Given the description of an element on the screen output the (x, y) to click on. 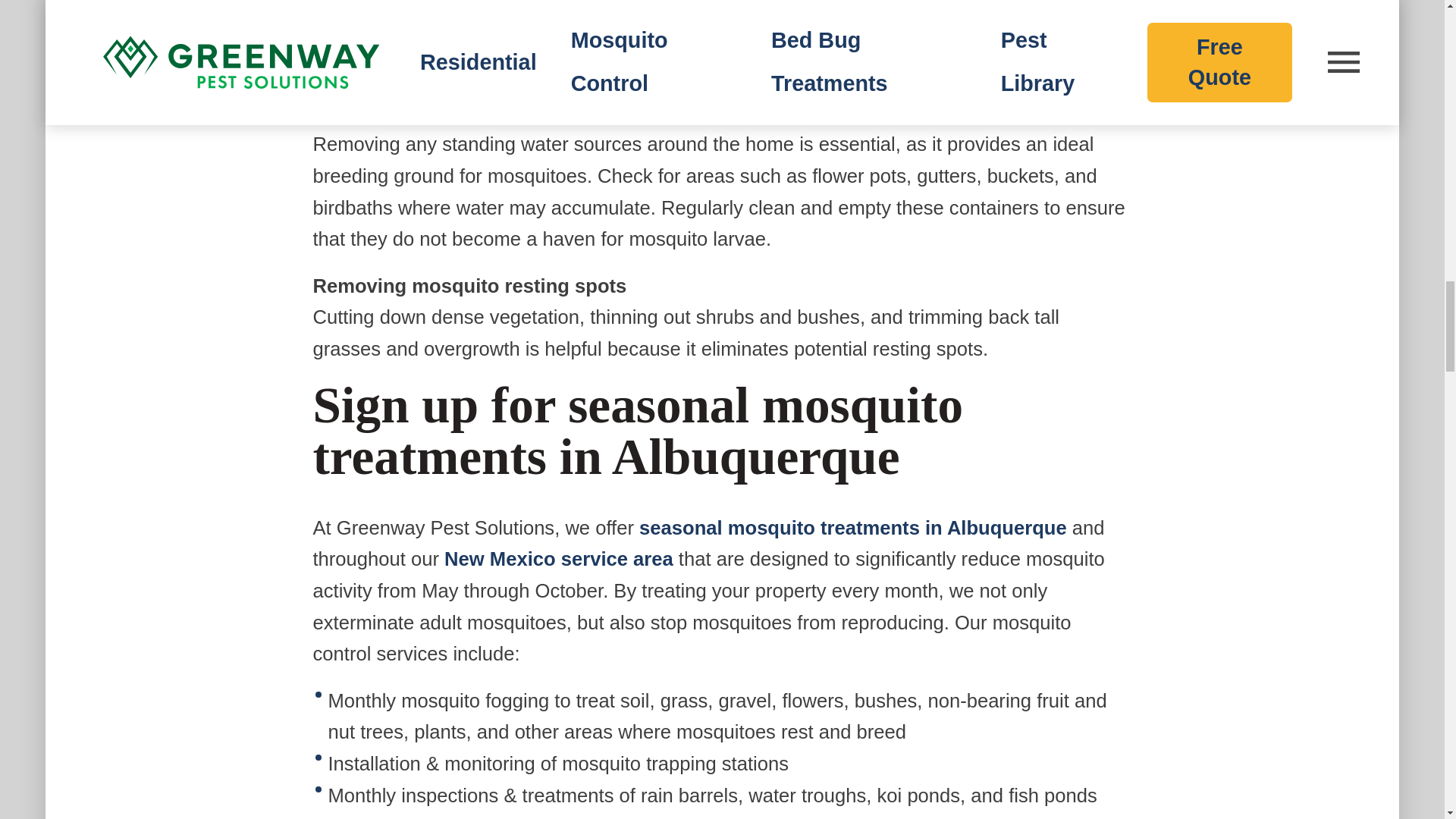
New Mexico service area (558, 558)
seasonal mosquito treatments in Albuquerque (853, 527)
